Given the description of an element on the screen output the (x, y) to click on. 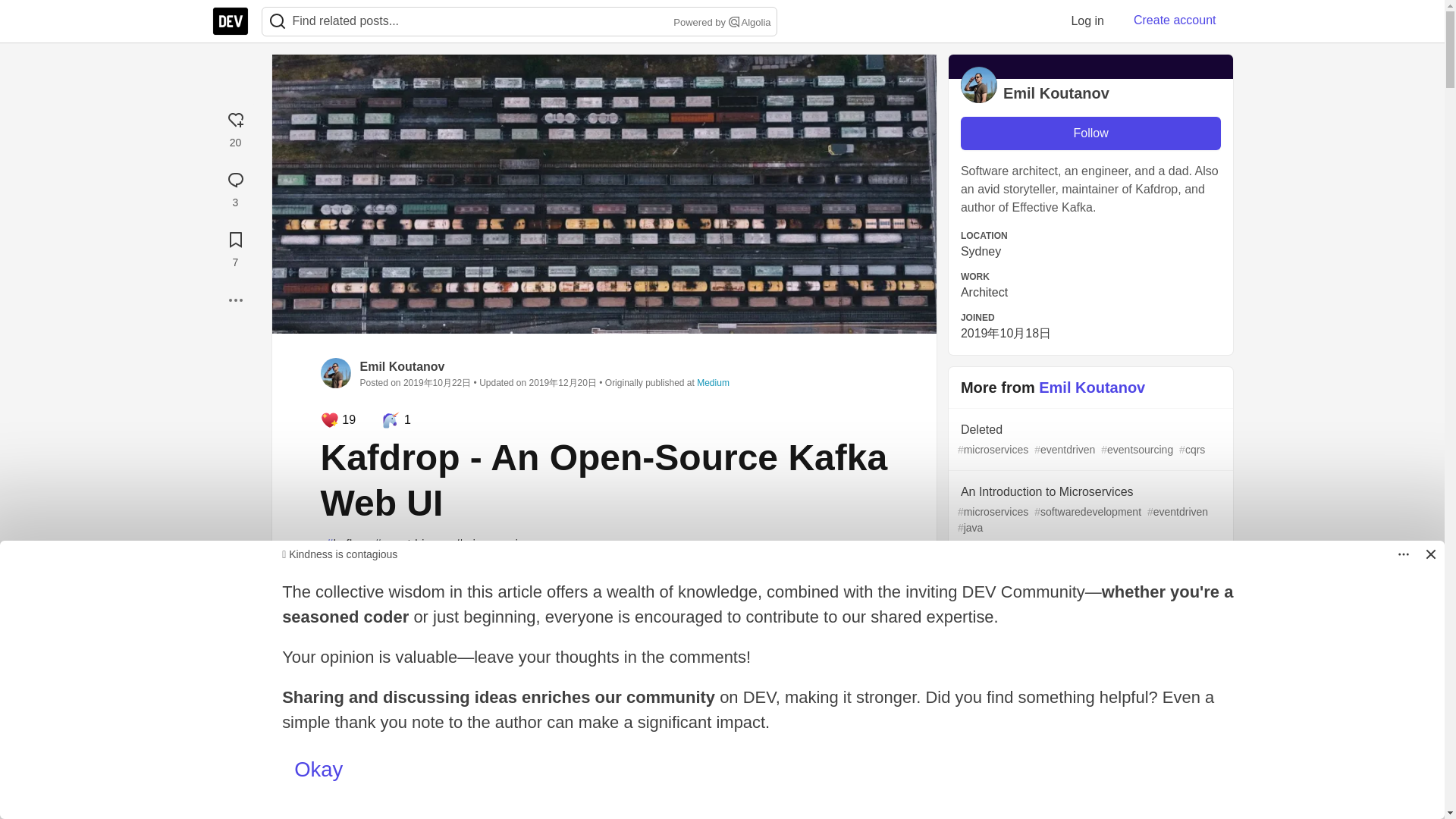
3 (235, 187)
Log in (1087, 20)
More... (234, 300)
Create account (1174, 20)
More... (234, 299)
7 (235, 247)
Powered by Algolia (720, 22)
Medium (713, 382)
Emil Koutanov (401, 366)
